Given the description of an element on the screen output the (x, y) to click on. 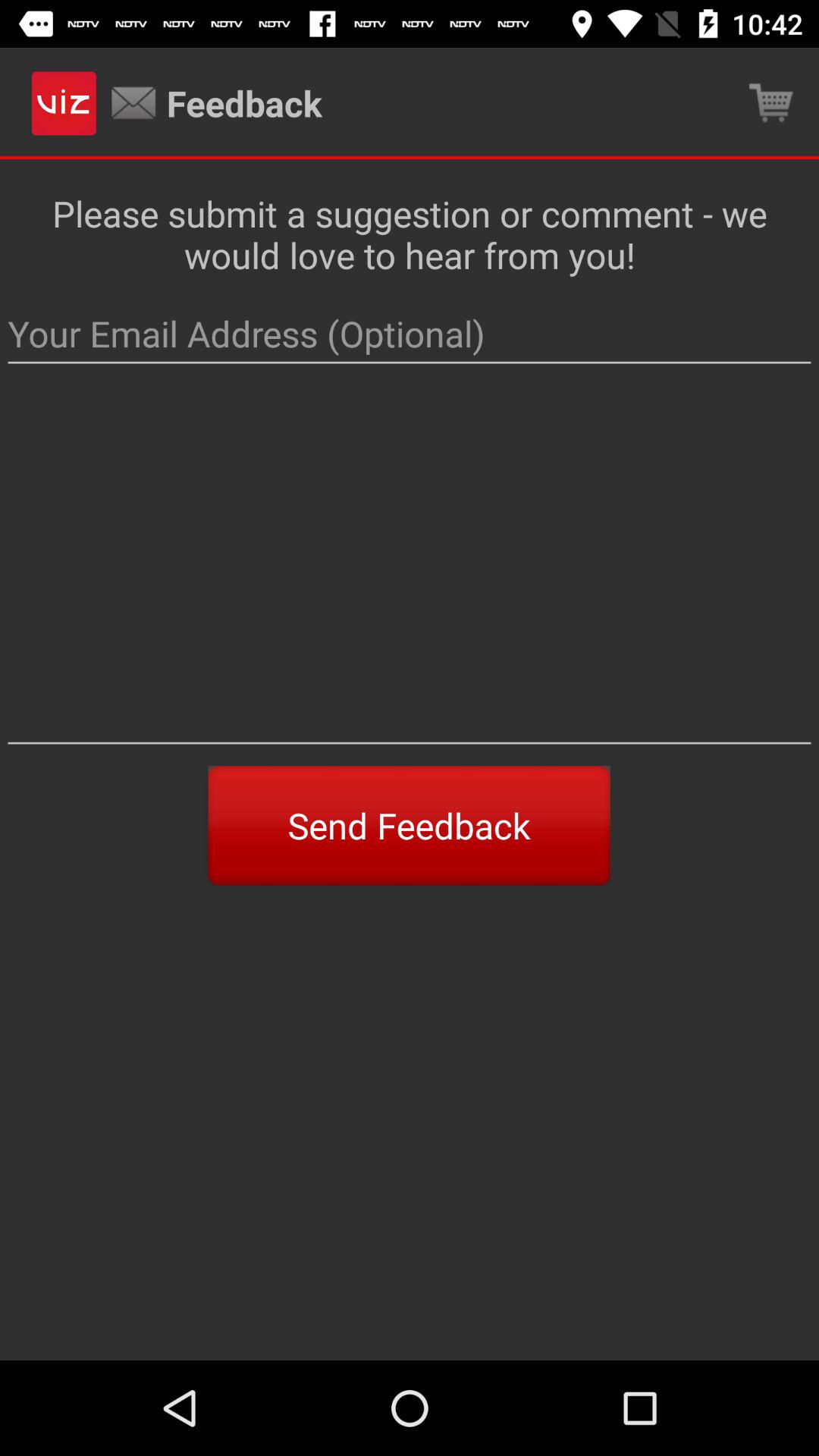
swipe until send feedback icon (409, 825)
